Given the description of an element on the screen output the (x, y) to click on. 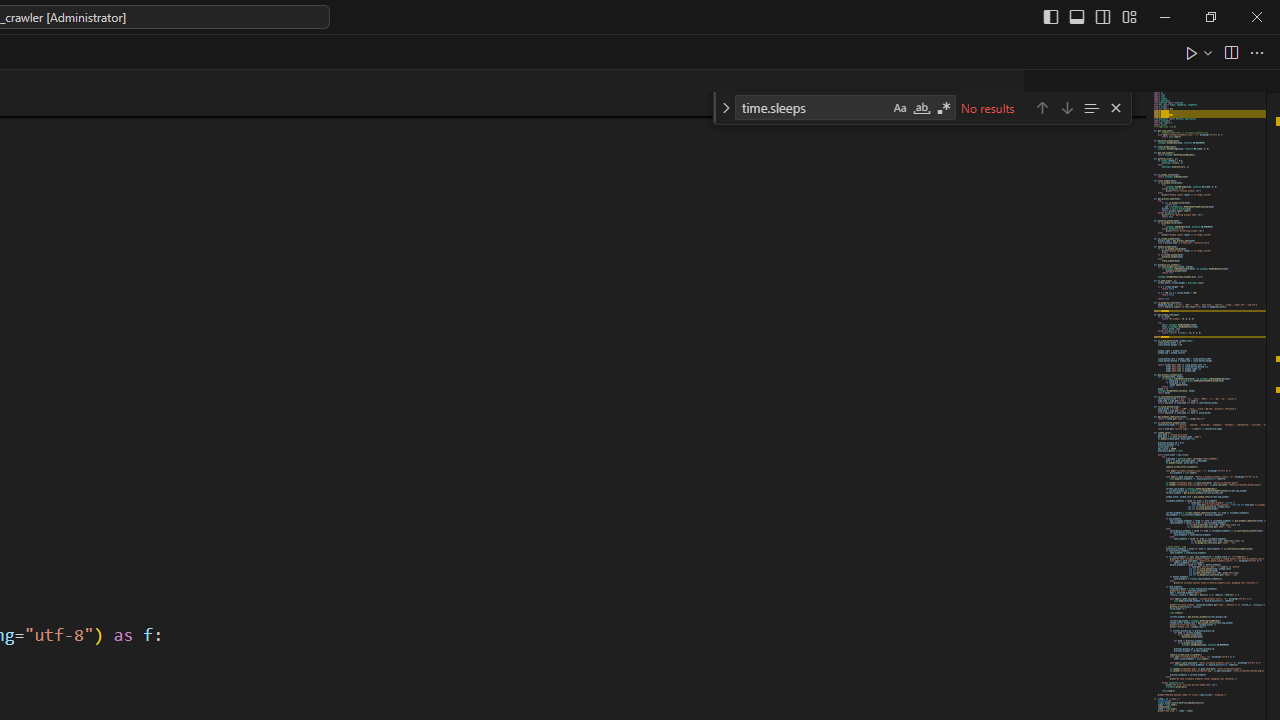
Match Case (Alt+C) (899, 107)
Use Regular Expression (Alt+R) (943, 107)
Next Match (Enter) (1066, 106)
Customize Layout... (1128, 16)
Find in Selection (Alt+L) (1091, 106)
Previous Match (Shift+Enter) (1041, 106)
Toggle Secondary Side Bar (Ctrl+Alt+B) (1102, 16)
